Given the description of an element on the screen output the (x, y) to click on. 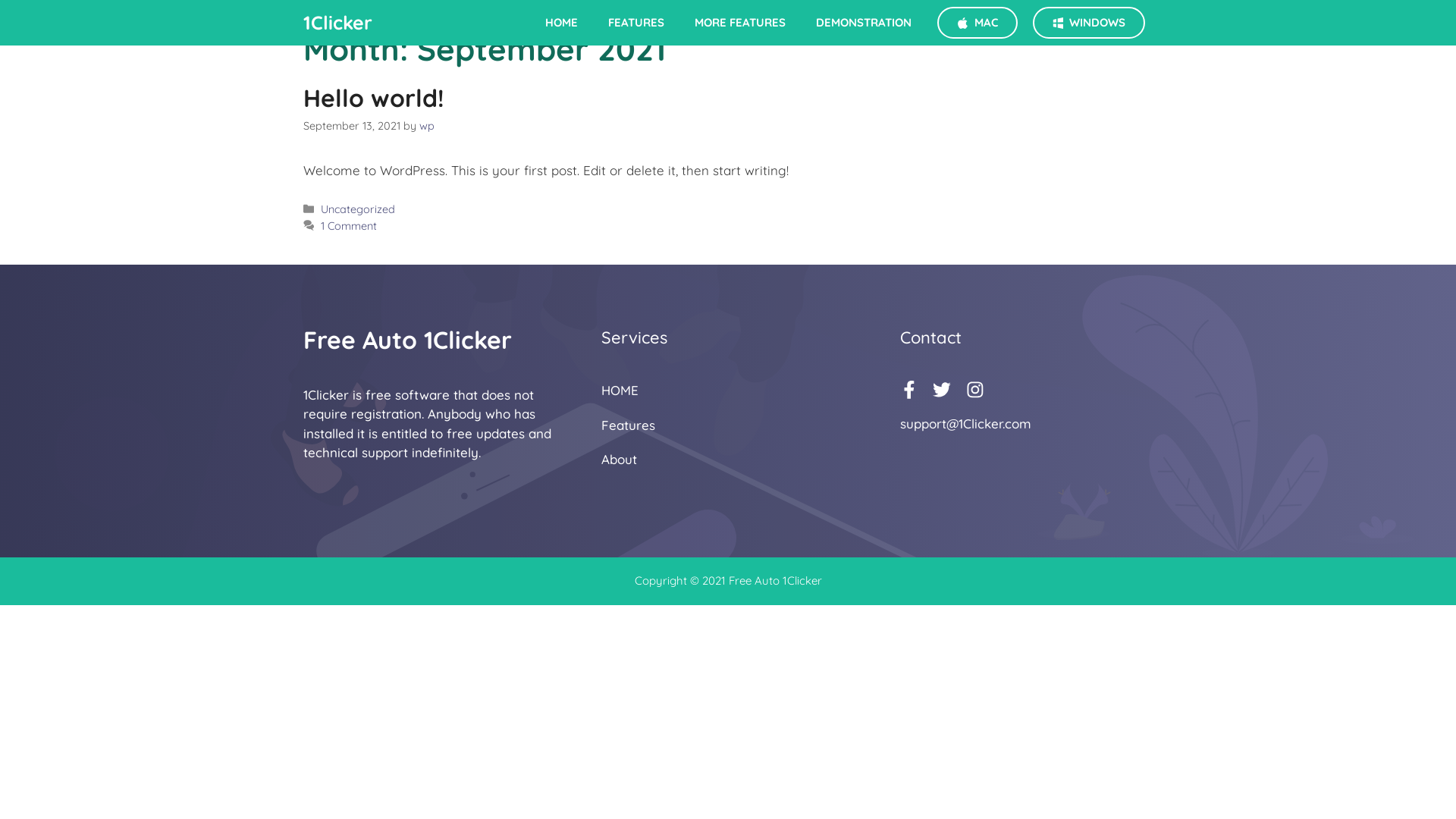
MAC Element type: text (977, 22)
About Element type: text (619, 459)
wp Element type: text (426, 125)
1 Comment Element type: text (348, 225)
Free Auto 1Clicker Element type: text (407, 339)
HOME Element type: text (619, 390)
DEMONSTRATION Element type: text (863, 22)
Uncategorized Element type: text (357, 209)
Features Element type: text (628, 425)
1Clicker Element type: text (337, 22)
HOME Element type: text (560, 22)
Hello world! Element type: text (373, 97)
WINDOWS Element type: text (1088, 22)
FEATURES Element type: text (636, 22)
MORE FEATURES Element type: text (739, 22)
